Given the description of an element on the screen output the (x, y) to click on. 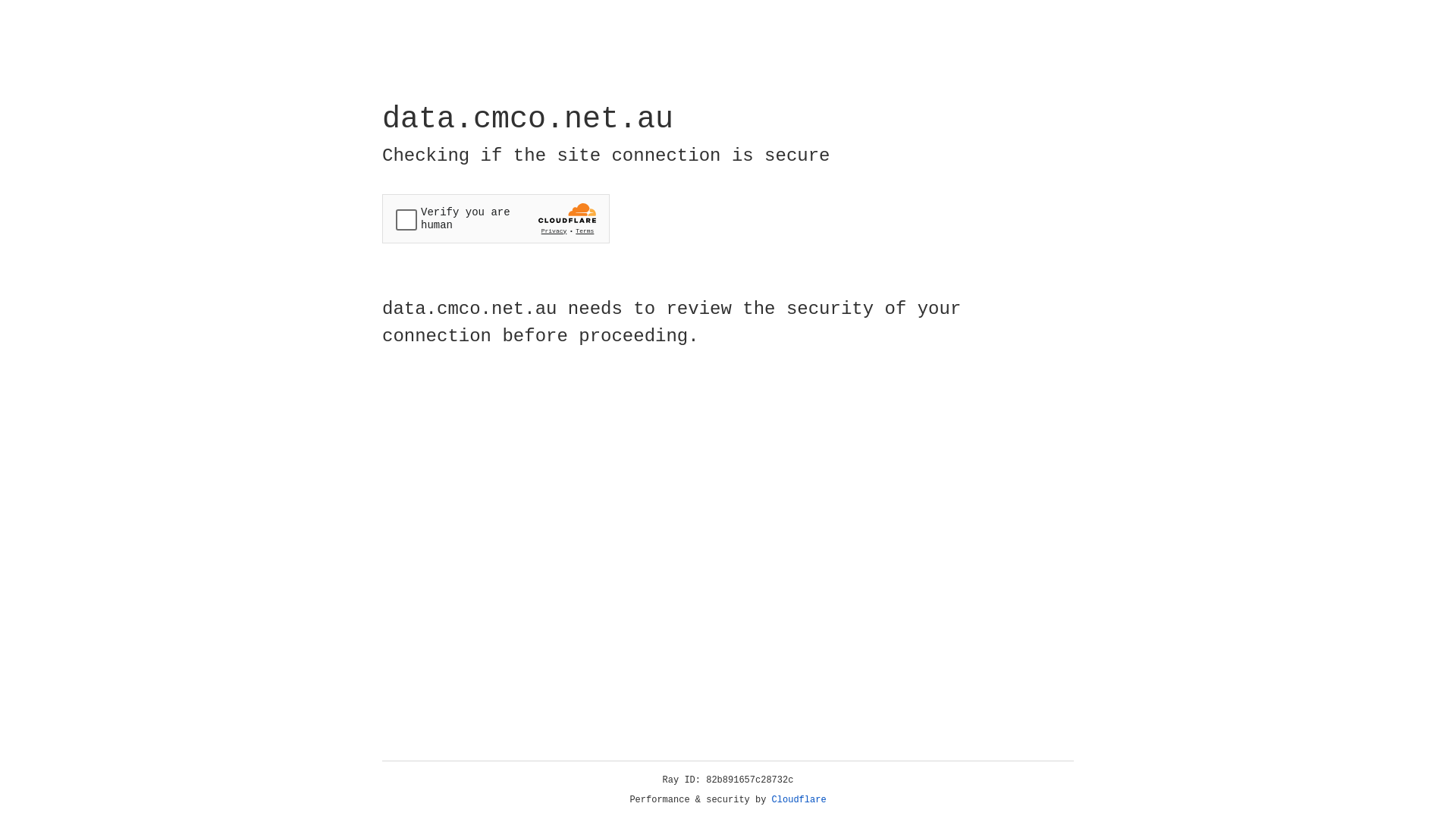
Cloudflare Element type: text (798, 799)
Widget containing a Cloudflare security challenge Element type: hover (495, 218)
